Given the description of an element on the screen output the (x, y) to click on. 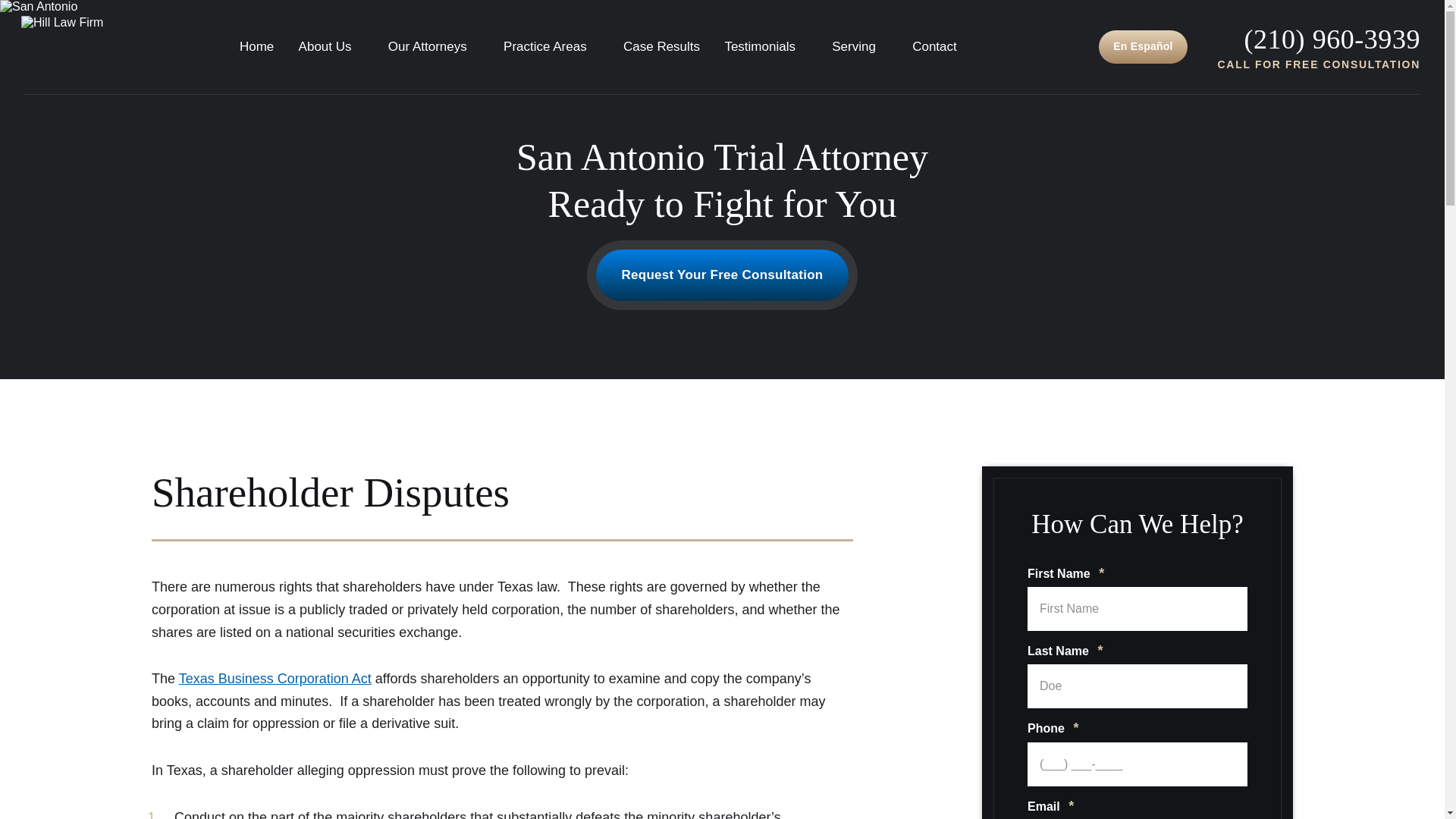
Serving (859, 46)
About Us (331, 46)
Practice Areas (550, 46)
Our Attorneys (433, 46)
P (1332, 38)
Home (256, 46)
Testimonials (765, 46)
Hill Law Firm (57, 47)
Case Results (661, 46)
